Given the description of an element on the screen output the (x, y) to click on. 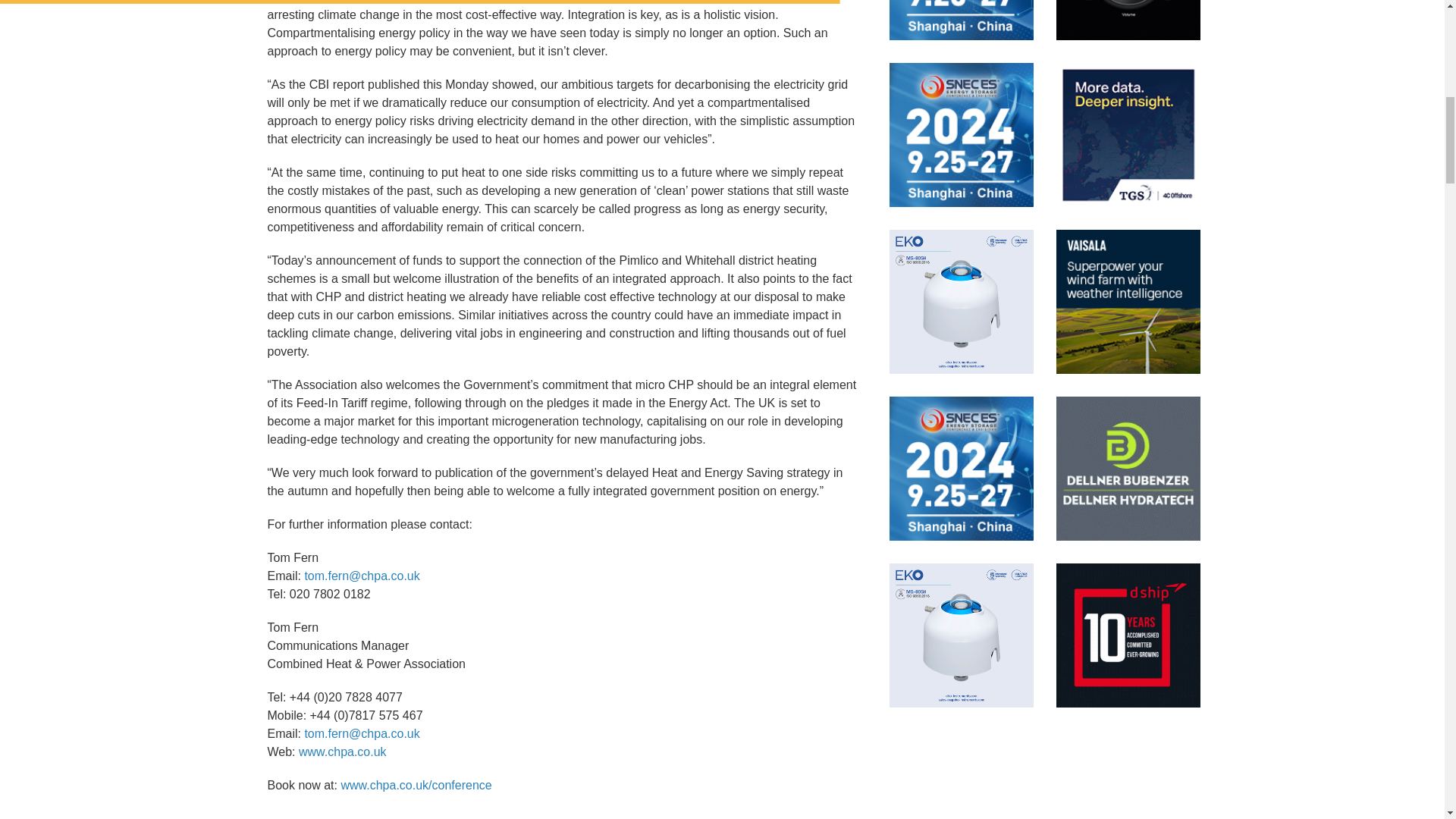
www.chpa.co.uk (342, 751)
